Given the description of an element on the screen output the (x, y) to click on. 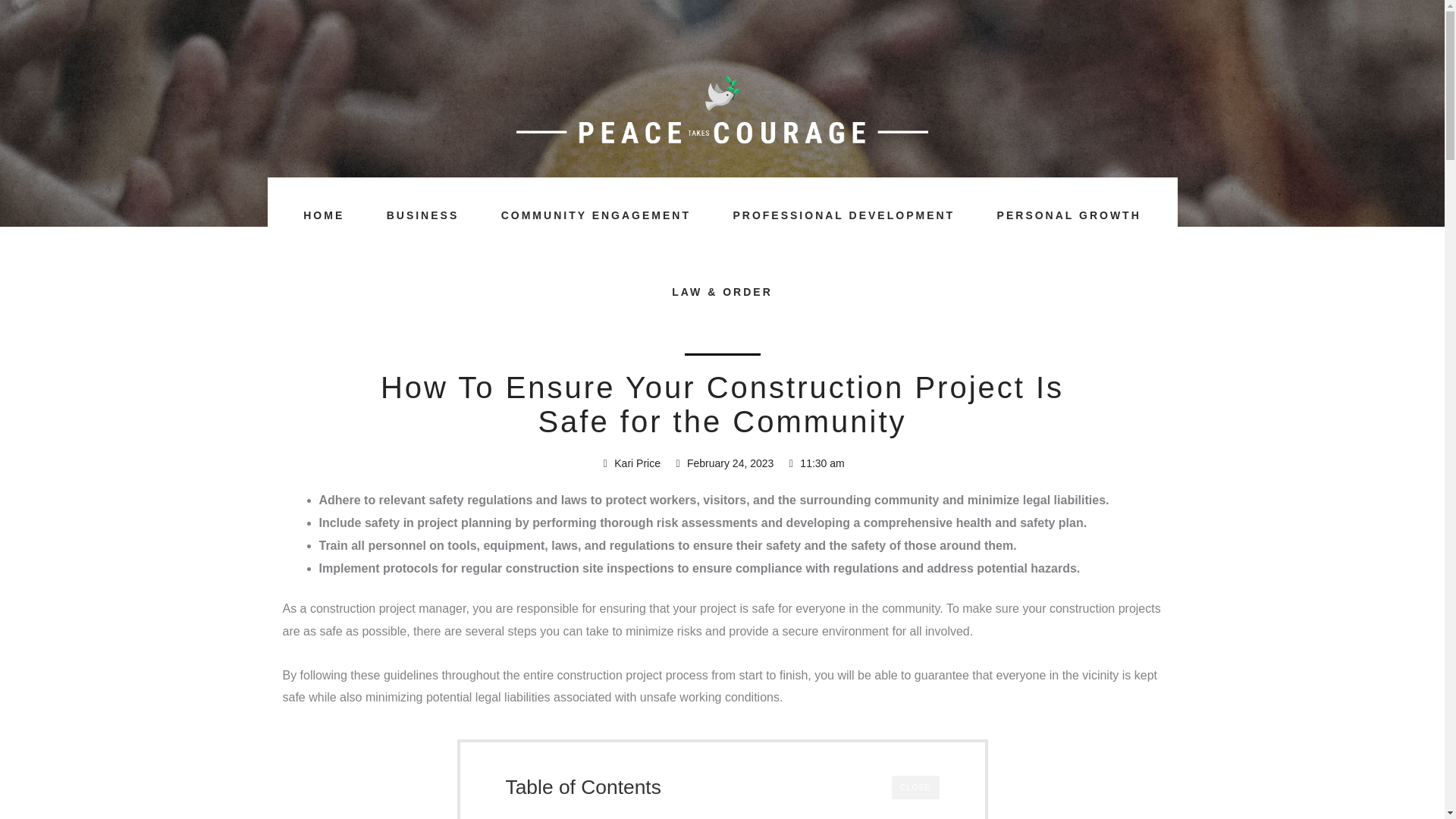
CLOSE (915, 787)
Kari Price (630, 464)
PERSONAL GROWTH (1068, 215)
February 24, 2023 (722, 464)
PROFESSIONAL DEVELOPMENT (843, 215)
BUSINESS (422, 215)
HOME (323, 215)
COMMUNITY ENGAGEMENT (595, 215)
